Given the description of an element on the screen output the (x, y) to click on. 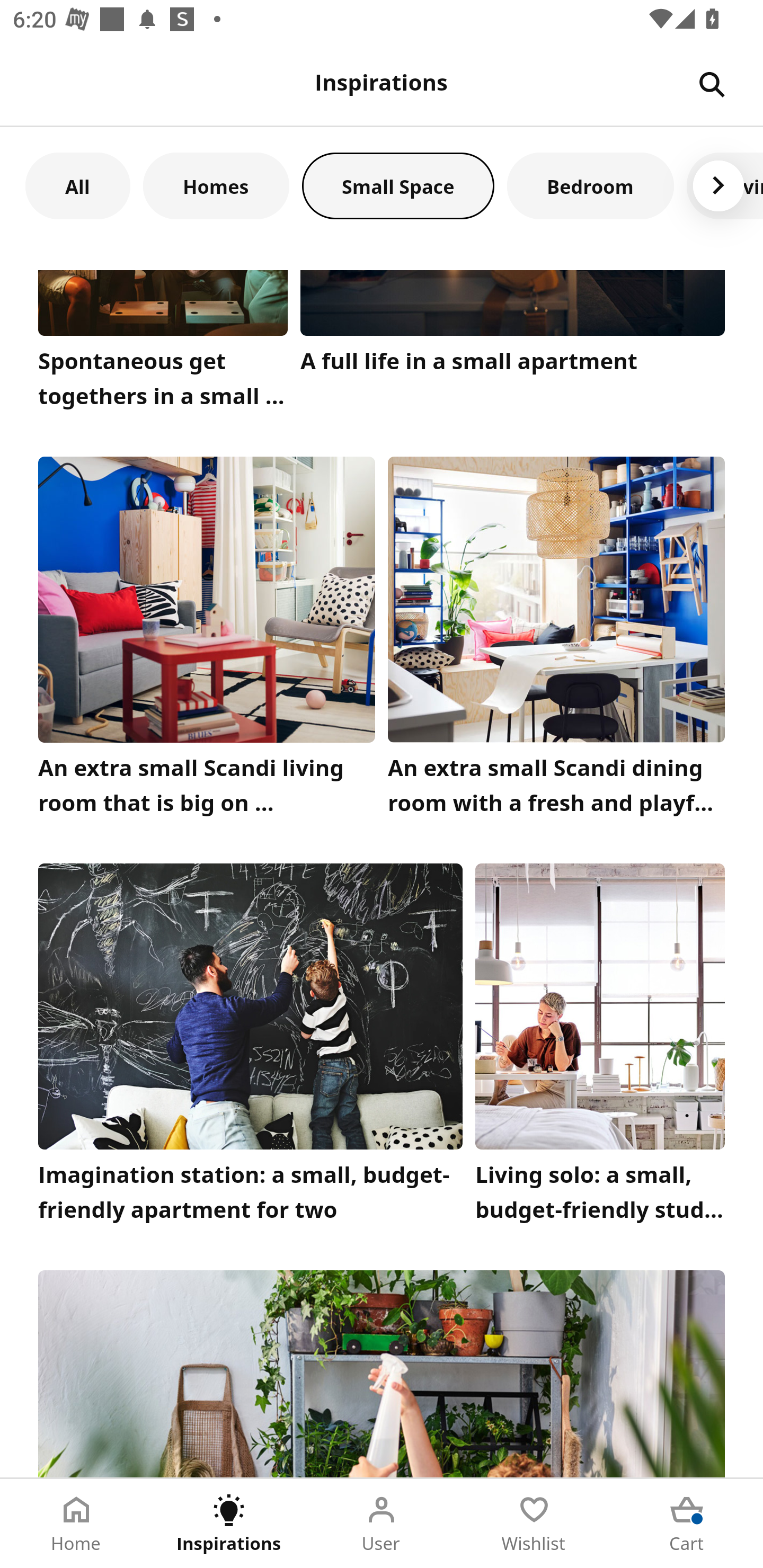
All (77, 185)
Homes (216, 185)
Small Space (398, 185)
Bedroom (590, 185)
Spontaneous get togethers in a small apartment (162, 343)
A full life in a small apartment (512, 343)
Home
Tab 1 of 5 (76, 1522)
Inspirations
Tab 2 of 5 (228, 1522)
User
Tab 3 of 5 (381, 1522)
Wishlist
Tab 4 of 5 (533, 1522)
Cart
Tab 5 of 5 (686, 1522)
